Given the description of an element on the screen output the (x, y) to click on. 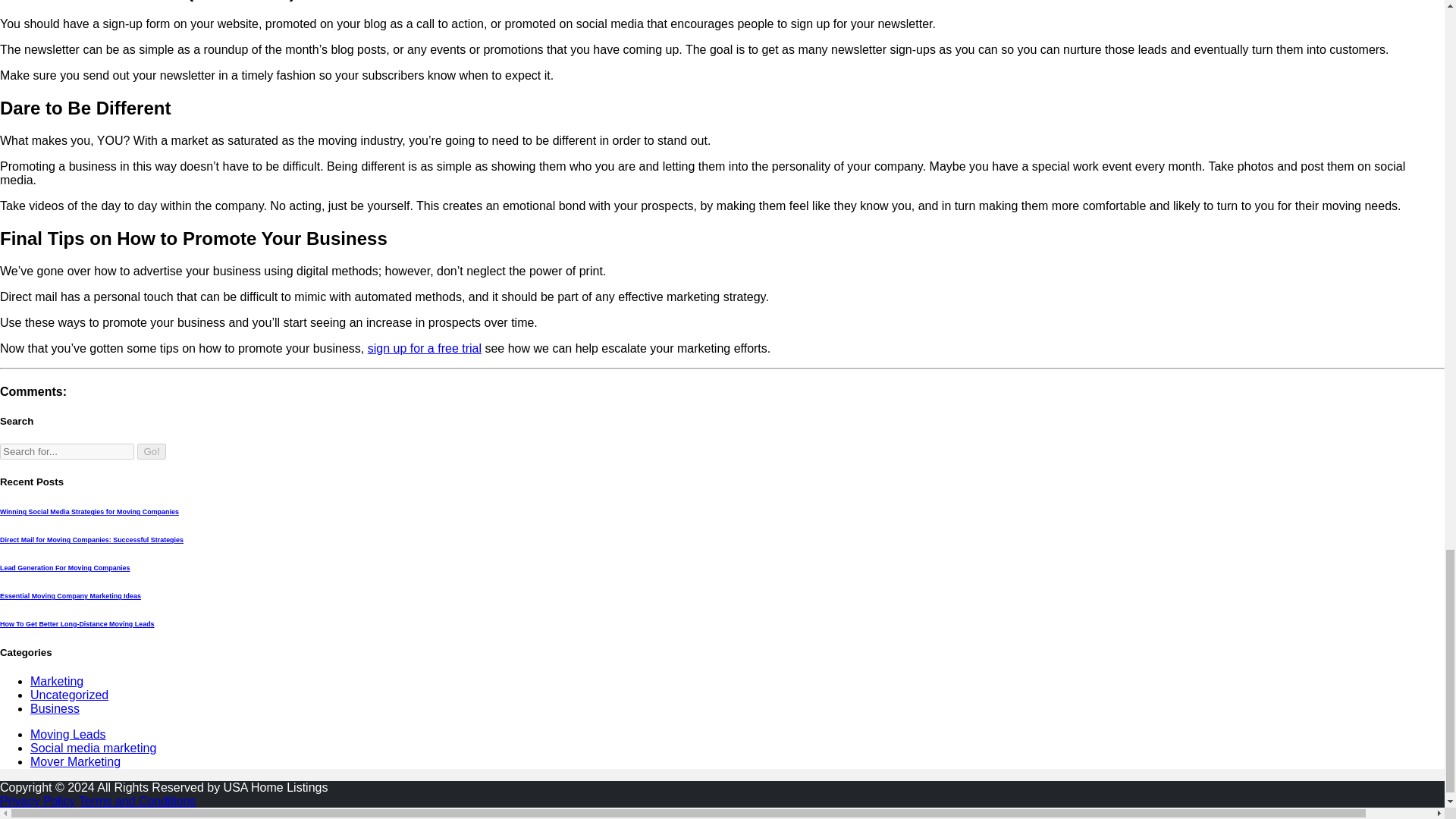
Direct Mail for Moving Companies: Successful Strategies (91, 539)
Essential Moving Company Marketing Ideas (70, 595)
How To Get Better Long-Distance Moving Leads (77, 623)
Social media marketing (92, 748)
Winning Social Media Strategies for Moving Companies (89, 511)
Moving Leads (68, 734)
Privacy Policy (37, 800)
Terms and Conditions (137, 800)
Go! (150, 451)
Uncategorized (68, 694)
Lead Generation For Moving Companies (65, 567)
sign up for a free trial (424, 347)
Mover Marketing (75, 761)
Marketing (56, 680)
Business (55, 707)
